Given the description of an element on the screen output the (x, y) to click on. 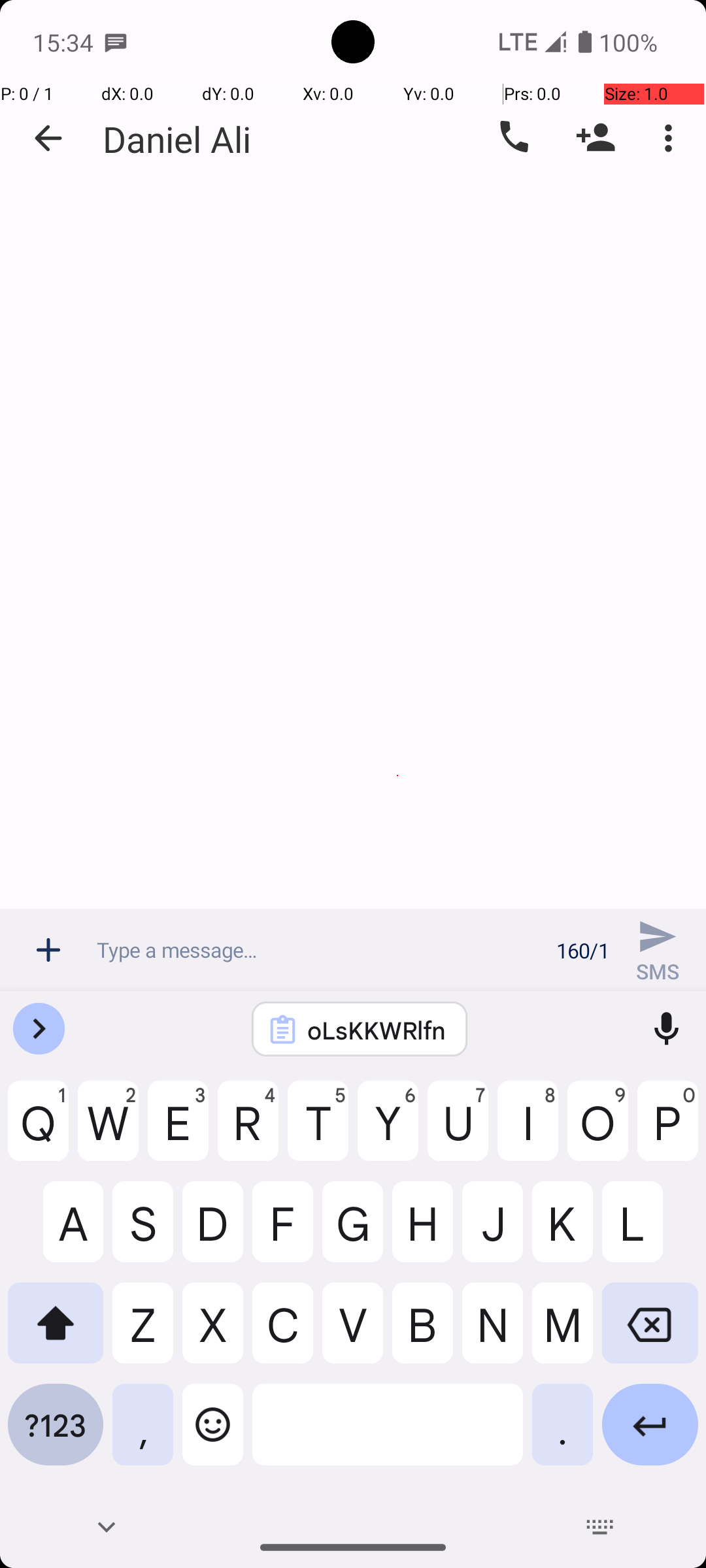
Daniel Ali Element type: android.widget.TextView (176, 138)
oLsKKWRlfn Element type: android.widget.TextView (376, 1029)
SMS Messenger notification: Isla da Silva Element type: android.widget.ImageView (115, 41)
